Given the description of an element on the screen output the (x, y) to click on. 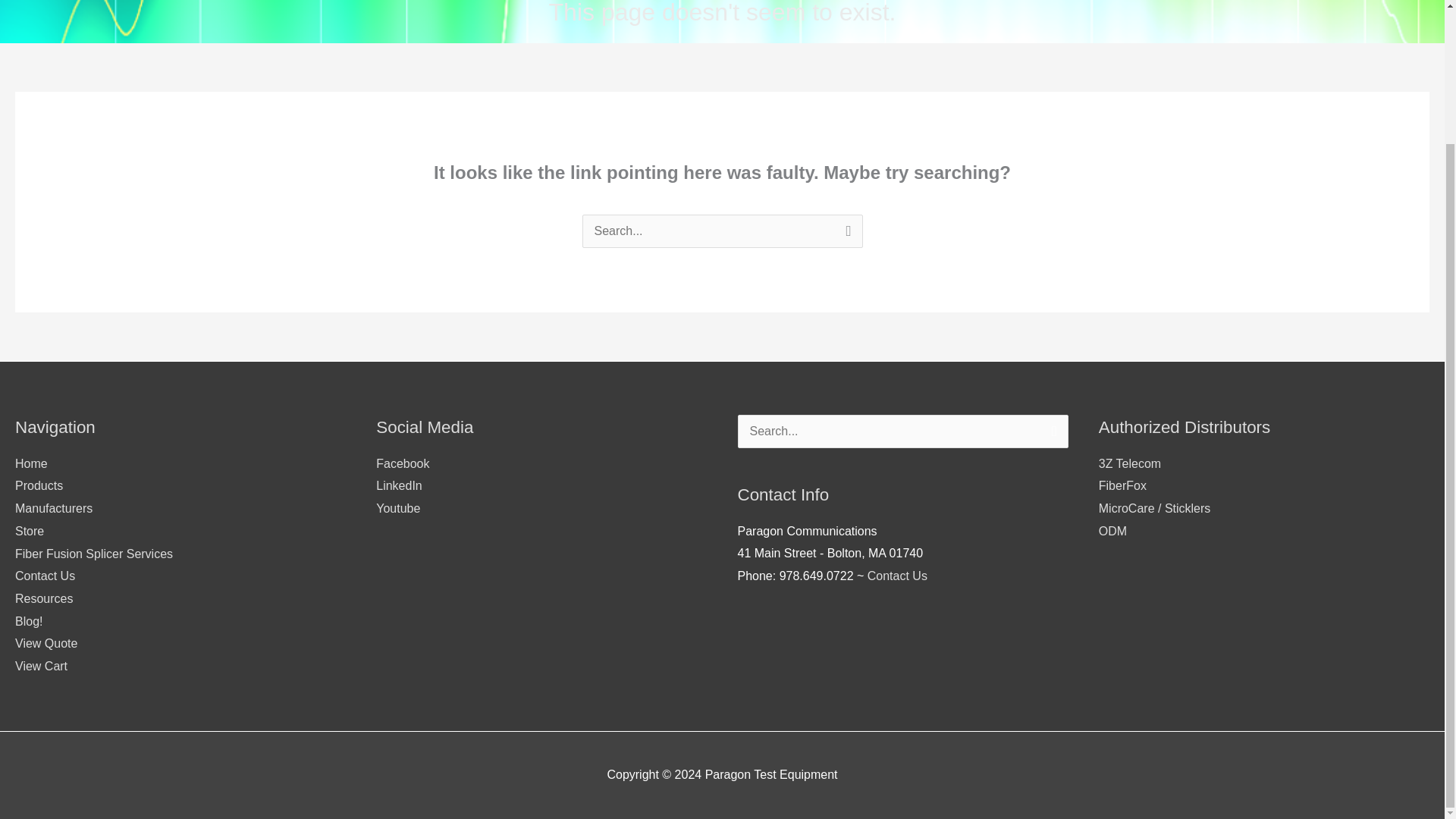
Resources (43, 598)
Store (28, 530)
Contact Us (44, 575)
View Quote (45, 643)
3Z Telecom (1129, 463)
Manufacturers (53, 508)
ODM (1112, 530)
Fiber Fusion Splicer Services (93, 553)
Products (38, 485)
LinkedIn (398, 485)
